Given the description of an element on the screen output the (x, y) to click on. 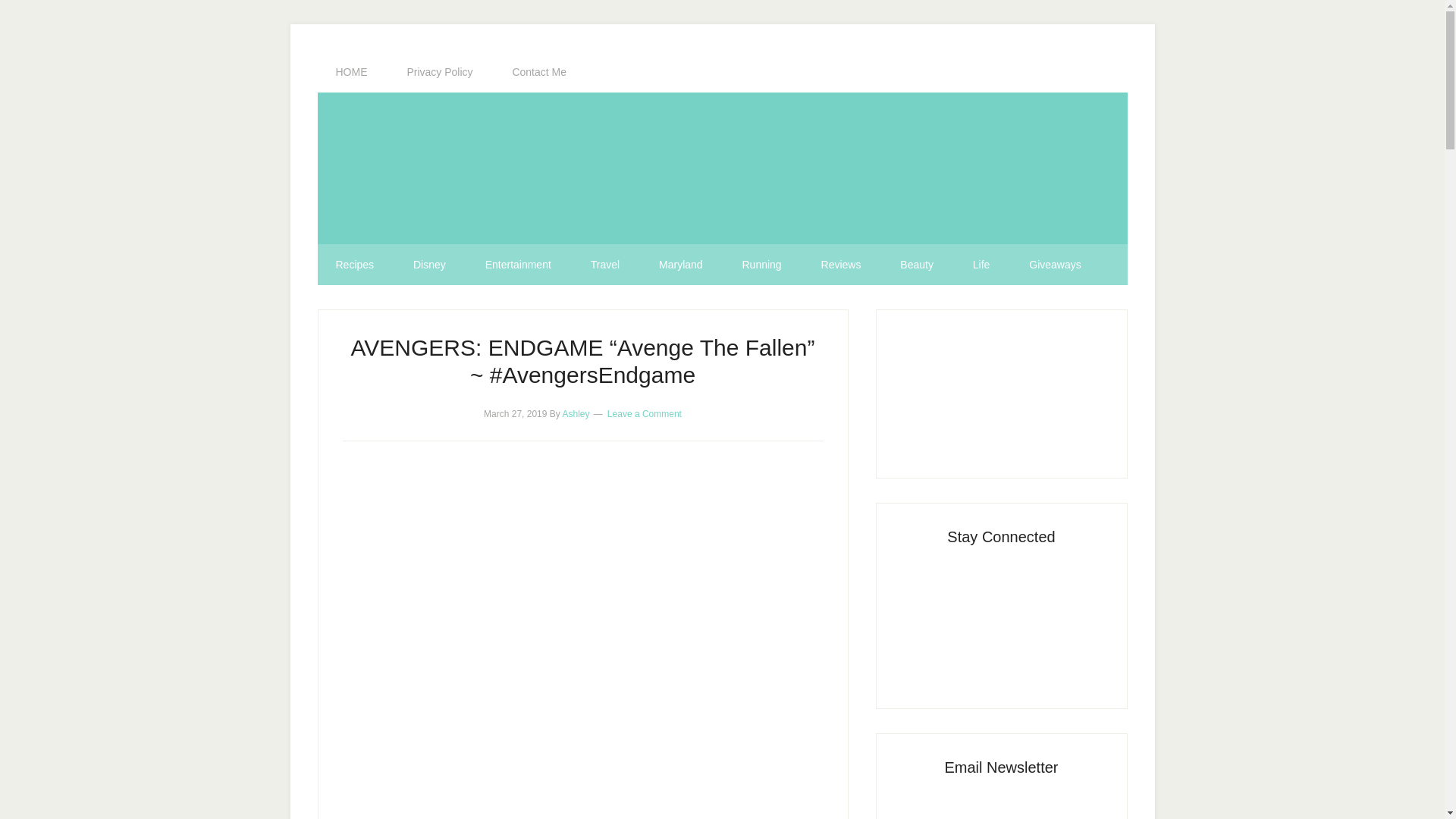
Privacy Policy (439, 71)
HOME (351, 71)
Life (982, 264)
Travel (604, 264)
Maryland Momma's Rambles (721, 168)
Beauty (917, 264)
Disney (429, 264)
Leave a Comment (644, 413)
Contact Me (539, 71)
Reviews (841, 264)
